Given the description of an element on the screen output the (x, y) to click on. 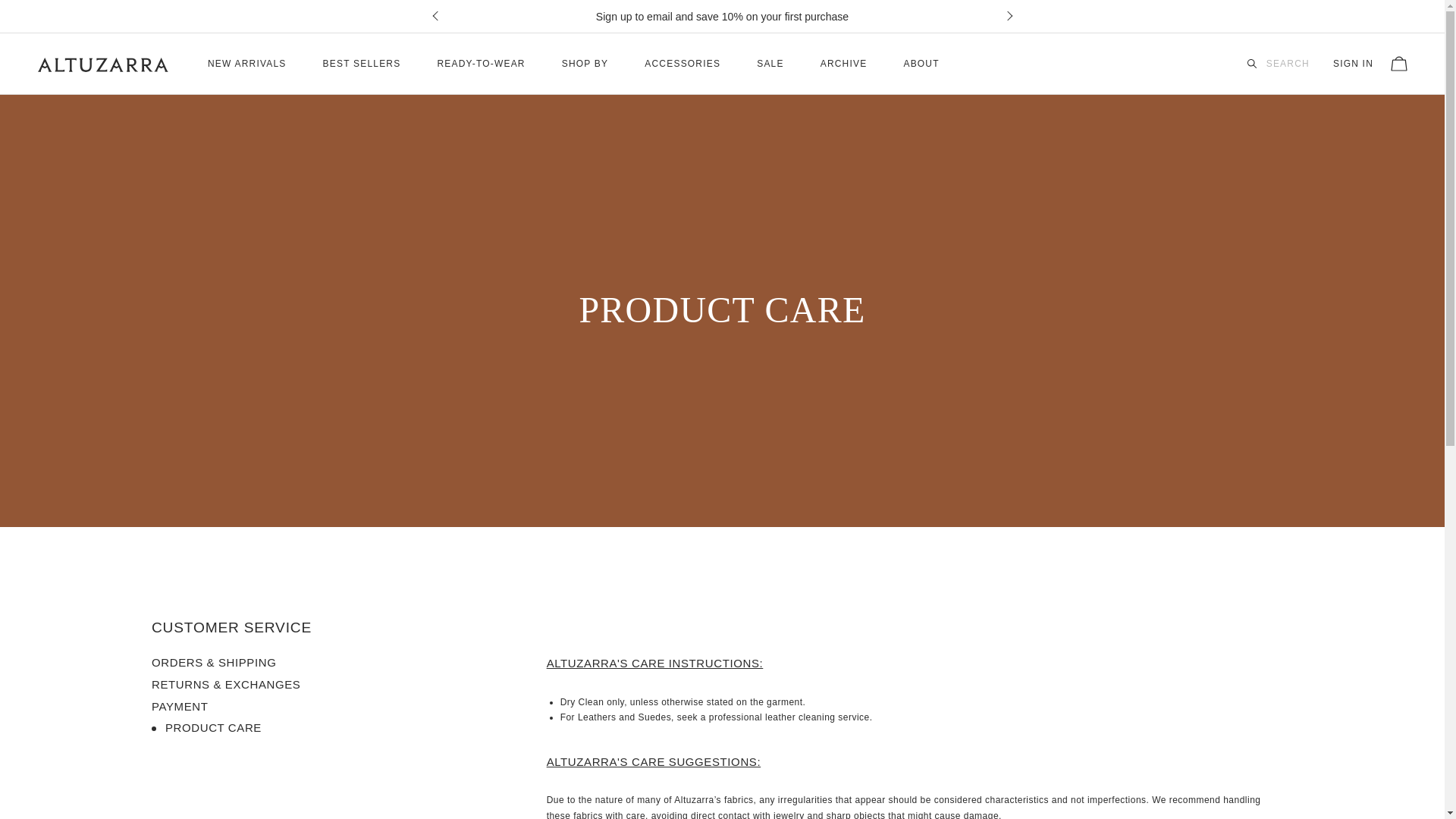
BEST SELLERS (362, 63)
Next (1006, 17)
Previous (436, 17)
NEW ARRIVALS (247, 63)
READY-TO-WEAR (480, 63)
ACCESSORIES (682, 63)
Home page (102, 63)
